Given the description of an element on the screen output the (x, y) to click on. 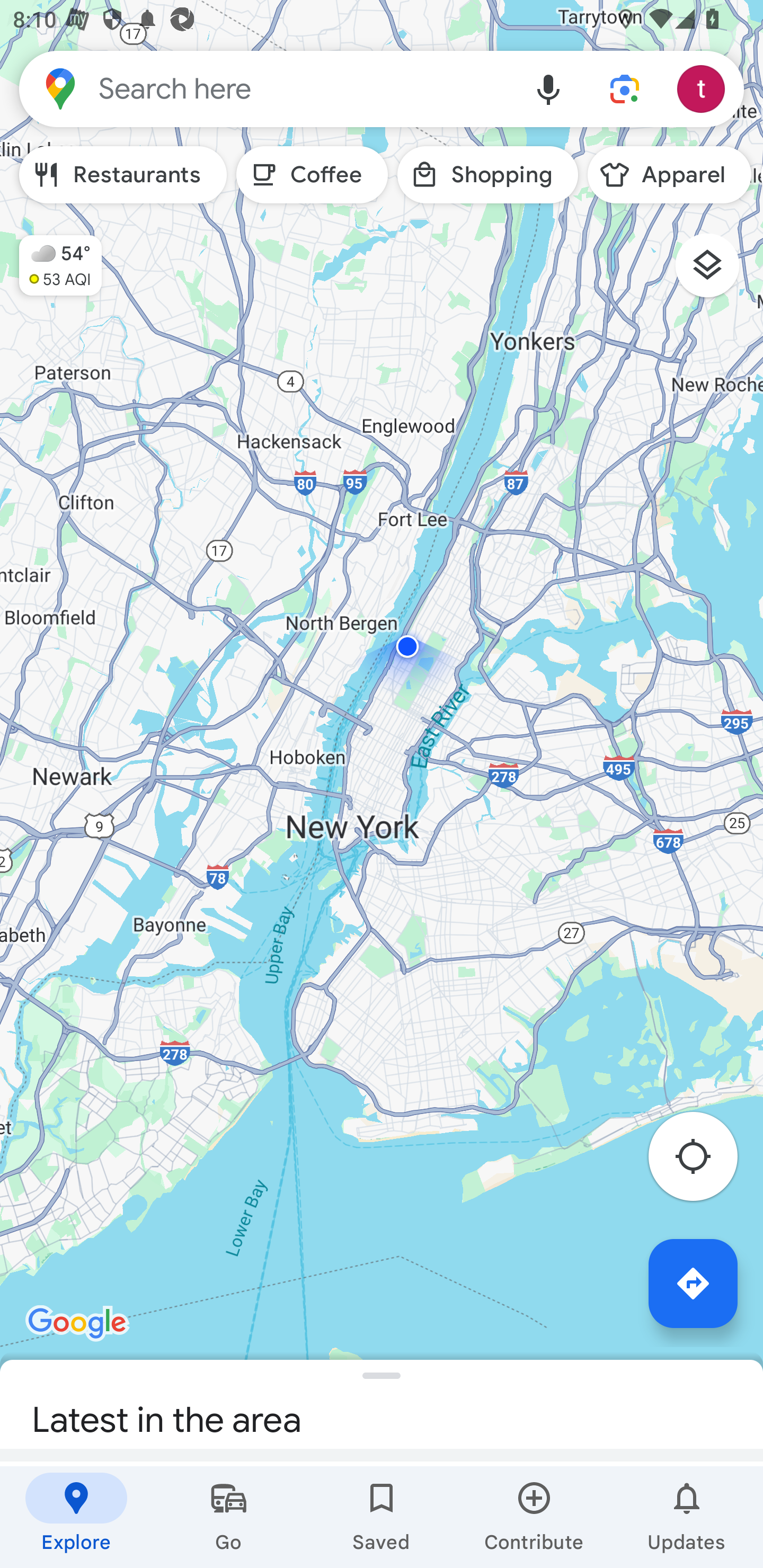
Search here (264, 88)
Voice search (548, 88)
Lens in Maps (624, 88)
Account and settings. (703, 88)
Restaurants Search for Restaurants (122, 174)
Coffee Search for Coffee (311, 174)
Shopping Search for Shopping (487, 174)
Apparel Search for Apparel (669, 174)
Cloudy, 54°, Moderate, 53 AQI 54° 53 AQI (50, 257)
Layers (716, 271)
Re-center map to your location (702, 1161)
Directions (692, 1283)
Go (228, 1517)
Saved (381, 1517)
Contribute (533, 1517)
Updates (686, 1517)
